Given the description of an element on the screen output the (x, y) to click on. 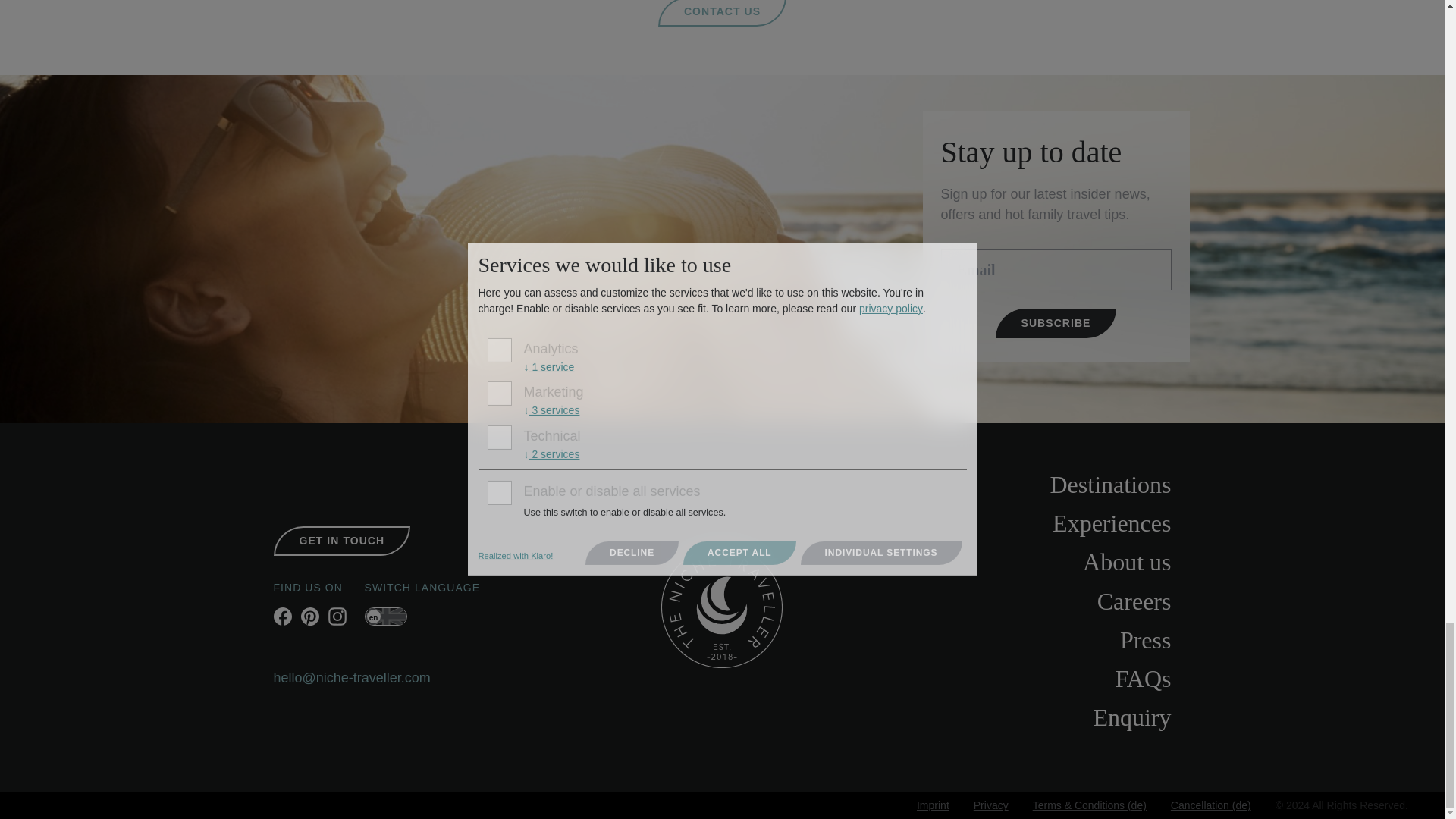
Experiences (1022, 523)
Privacy (991, 805)
Subscribe (1055, 323)
Press (1022, 640)
Enquiry (1022, 717)
FAQs (1022, 678)
About us (1022, 561)
GET IN TOUCH (341, 541)
CONTACT US (722, 13)
Imprint (933, 805)
